Given the description of an element on the screen output the (x, y) to click on. 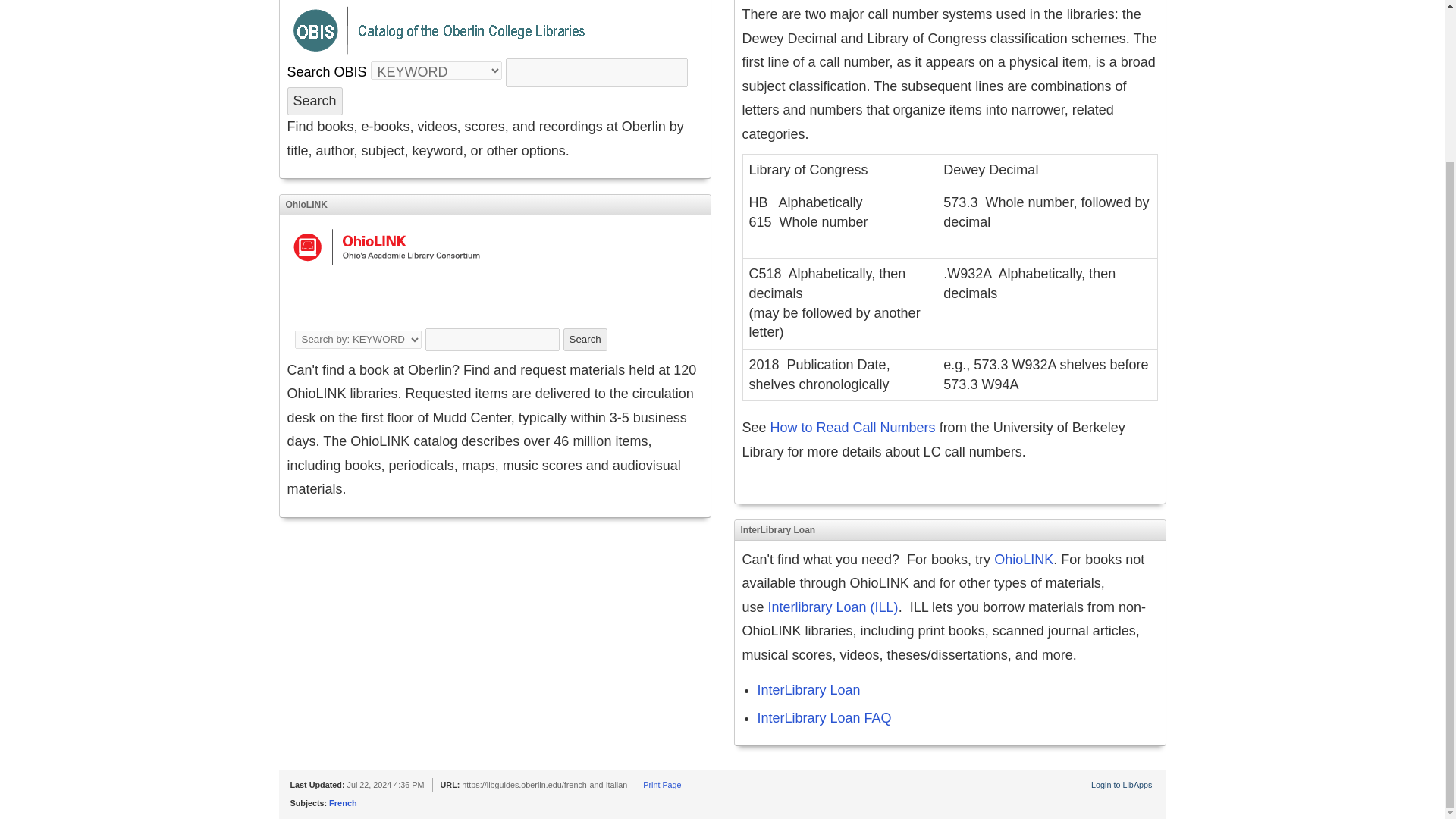
Search (585, 339)
InterLibrary Loan FAQ (824, 717)
Search (314, 101)
How to Read Call Numbers (853, 427)
OhioLINK (1023, 559)
InterLibrary Loan (808, 689)
Search (585, 339)
Login to LibApps (1120, 784)
Print Page (662, 784)
French (342, 802)
Search OBIS (326, 71)
Search (314, 101)
OBIS: Catalog of the Oberlin Library (326, 71)
